Given the description of an element on the screen output the (x, y) to click on. 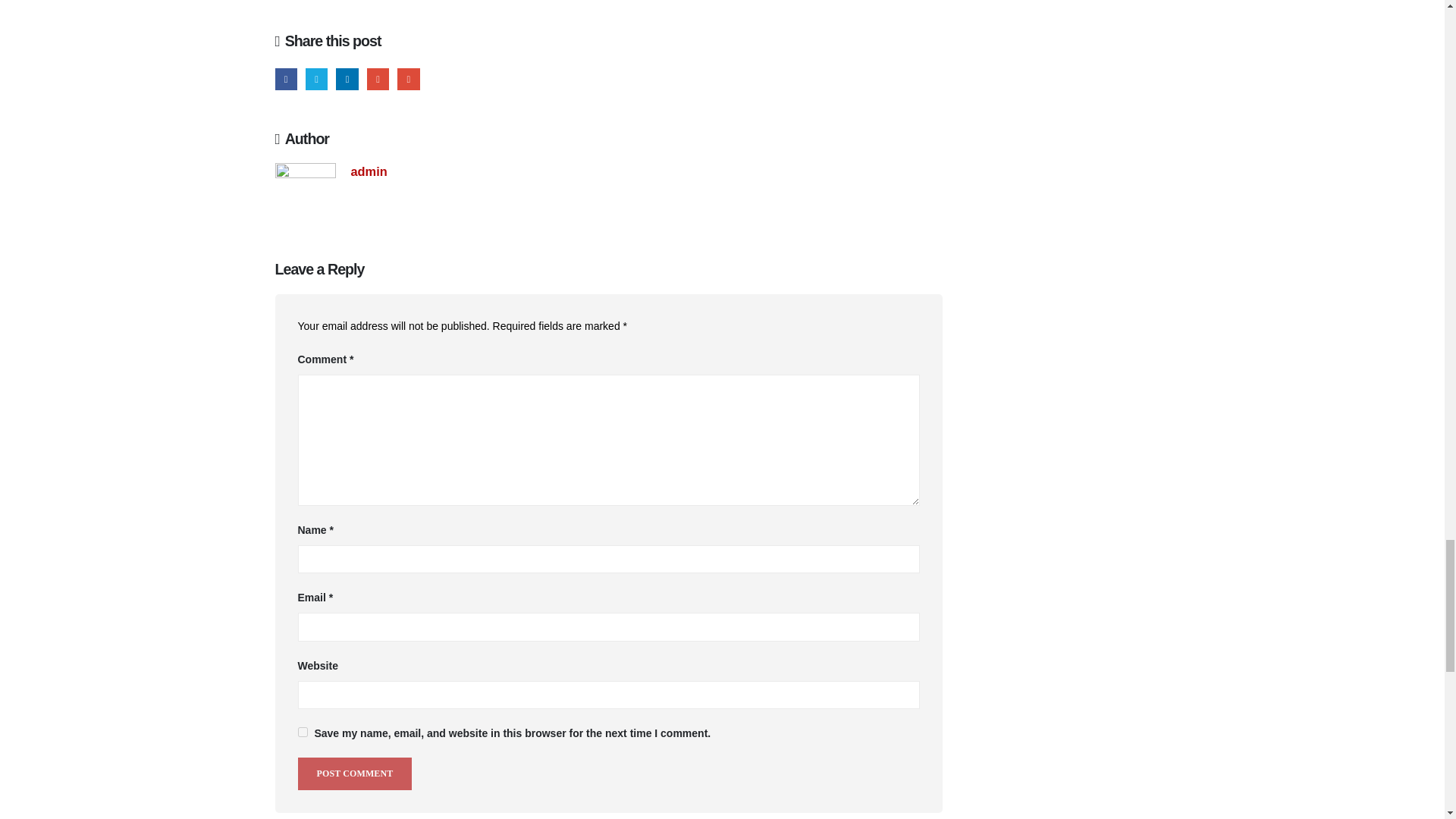
Twitter (316, 78)
LinkedIn (347, 78)
Twitter (316, 78)
LinkedIn (347, 78)
Posts by admin (368, 171)
yes (302, 732)
Facebook (286, 78)
Email (408, 78)
Post Comment (354, 773)
Facebook (286, 78)
